Given the description of an element on the screen output the (x, y) to click on. 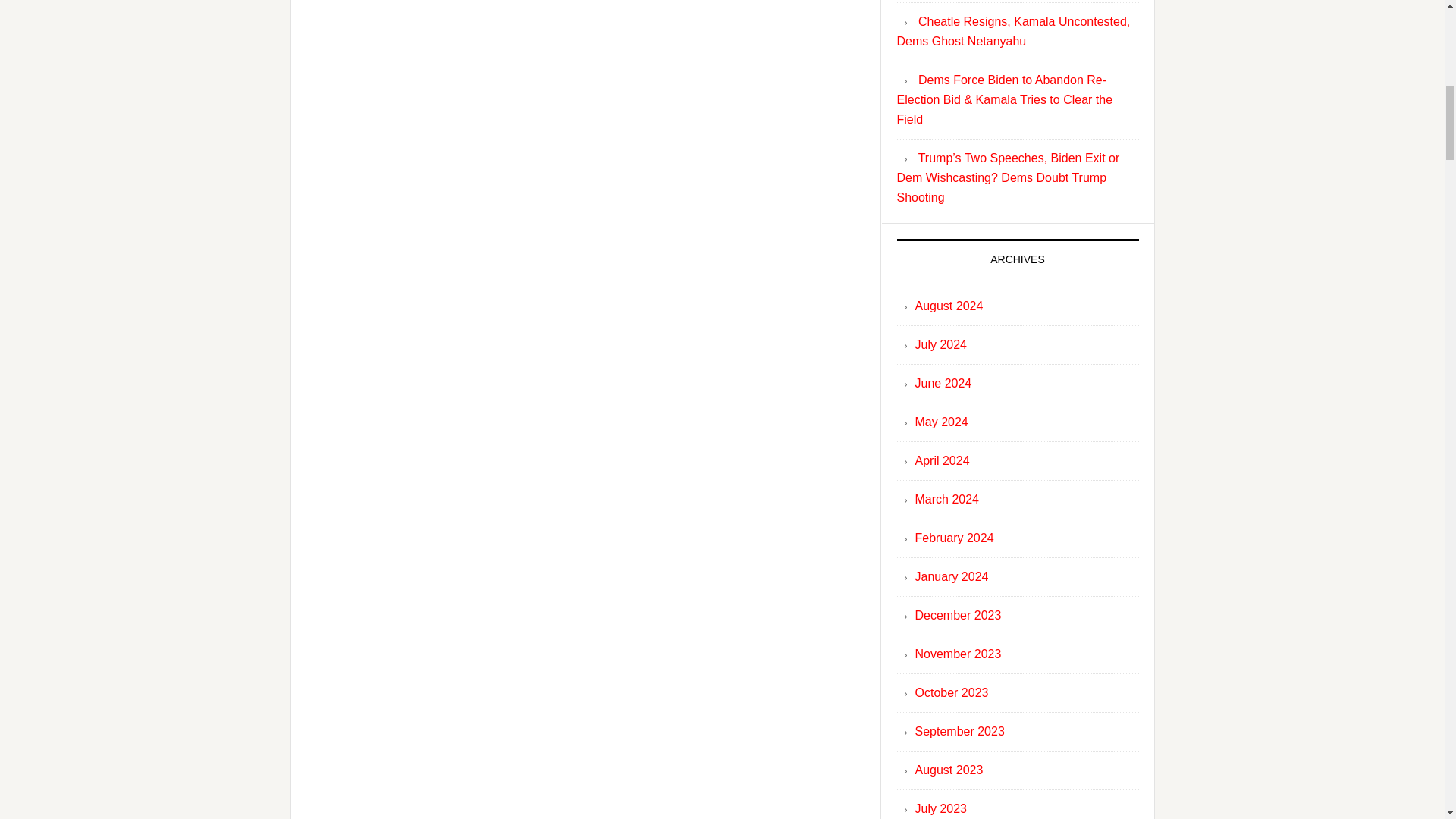
June 2024 (942, 382)
Cheatle Resigns, Kamala Uncontested, Dems Ghost Netanyahu (1012, 31)
July 2024 (940, 344)
February 2024 (953, 537)
January 2024 (951, 576)
August 2023 (948, 769)
December 2023 (957, 615)
November 2023 (957, 653)
April 2024 (941, 460)
October 2023 (951, 692)
August 2024 (948, 305)
March 2024 (946, 499)
July 2023 (940, 808)
September 2023 (959, 730)
May 2024 (941, 421)
